Given the description of an element on the screen output the (x, y) to click on. 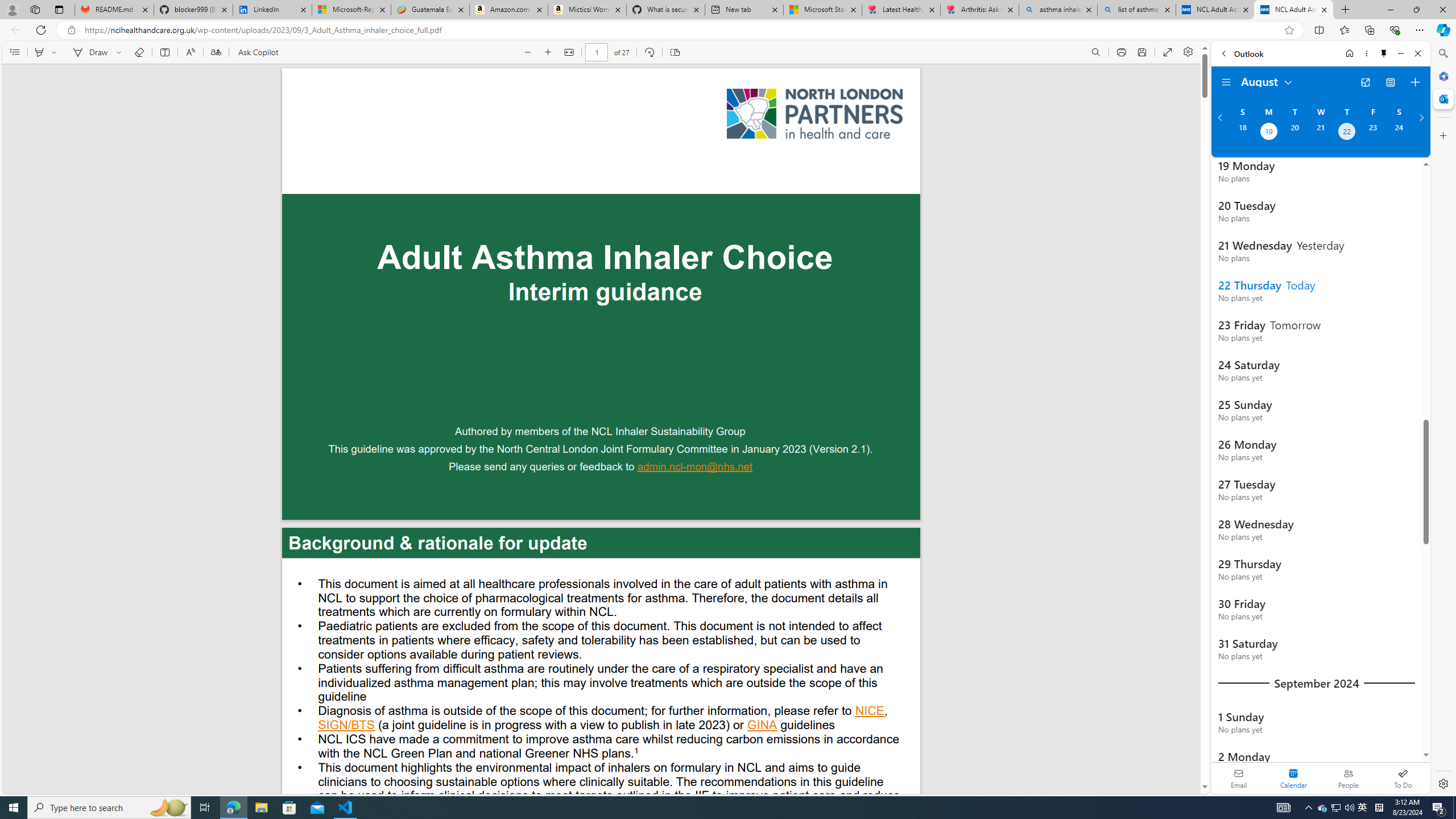
Save (Ctrl+S) (1142, 52)
To Do (1402, 777)
PDF bar (601, 51)
Select ink properties (120, 52)
